Given the description of an element on the screen output the (x, y) to click on. 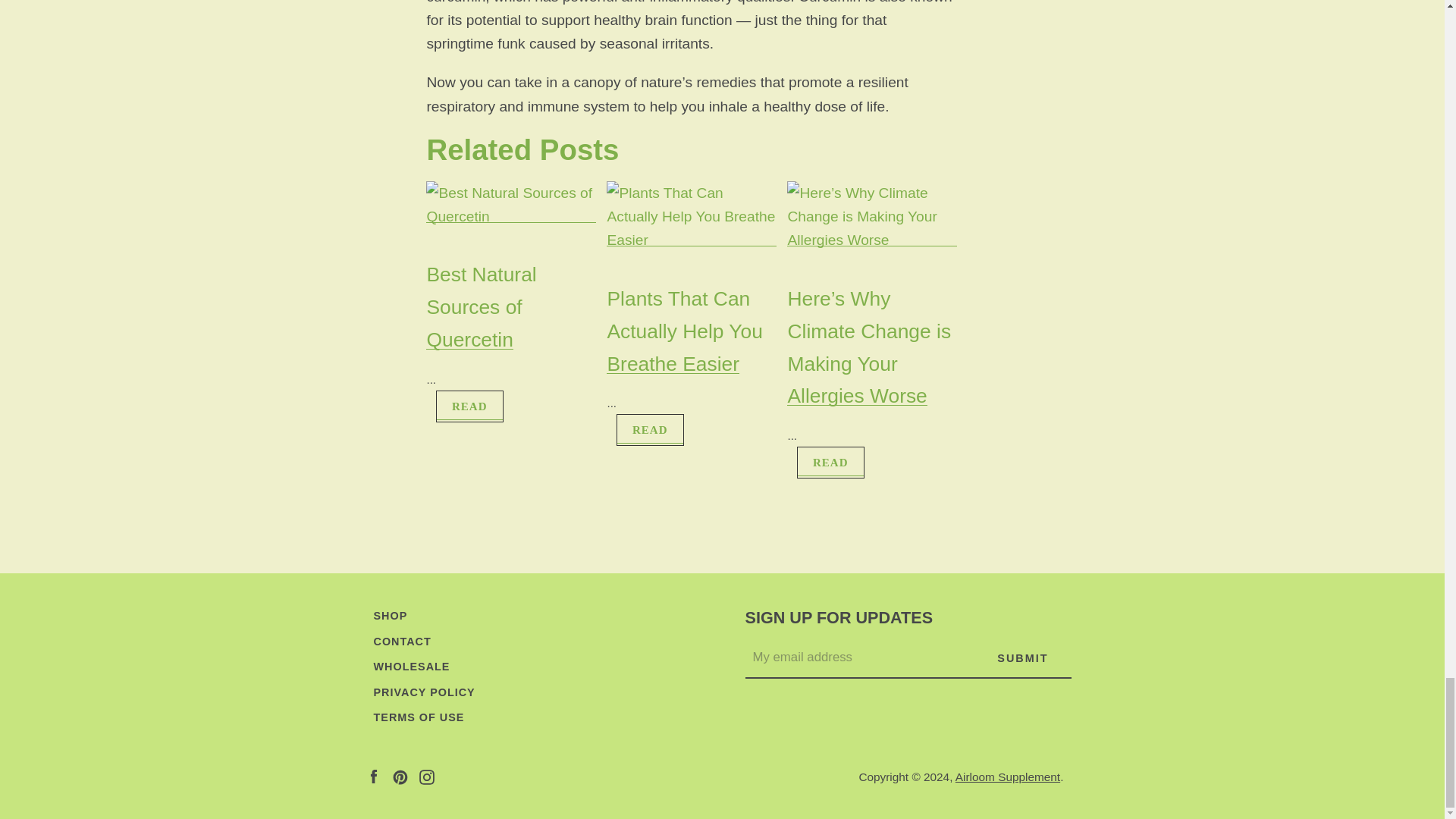
Submit (1022, 658)
Airloom Supplement on Pinterest (400, 775)
Airloom Supplement on Facebook (372, 775)
Airloom Supplement on Instagram (426, 775)
